Given the description of an element on the screen output the (x, y) to click on. 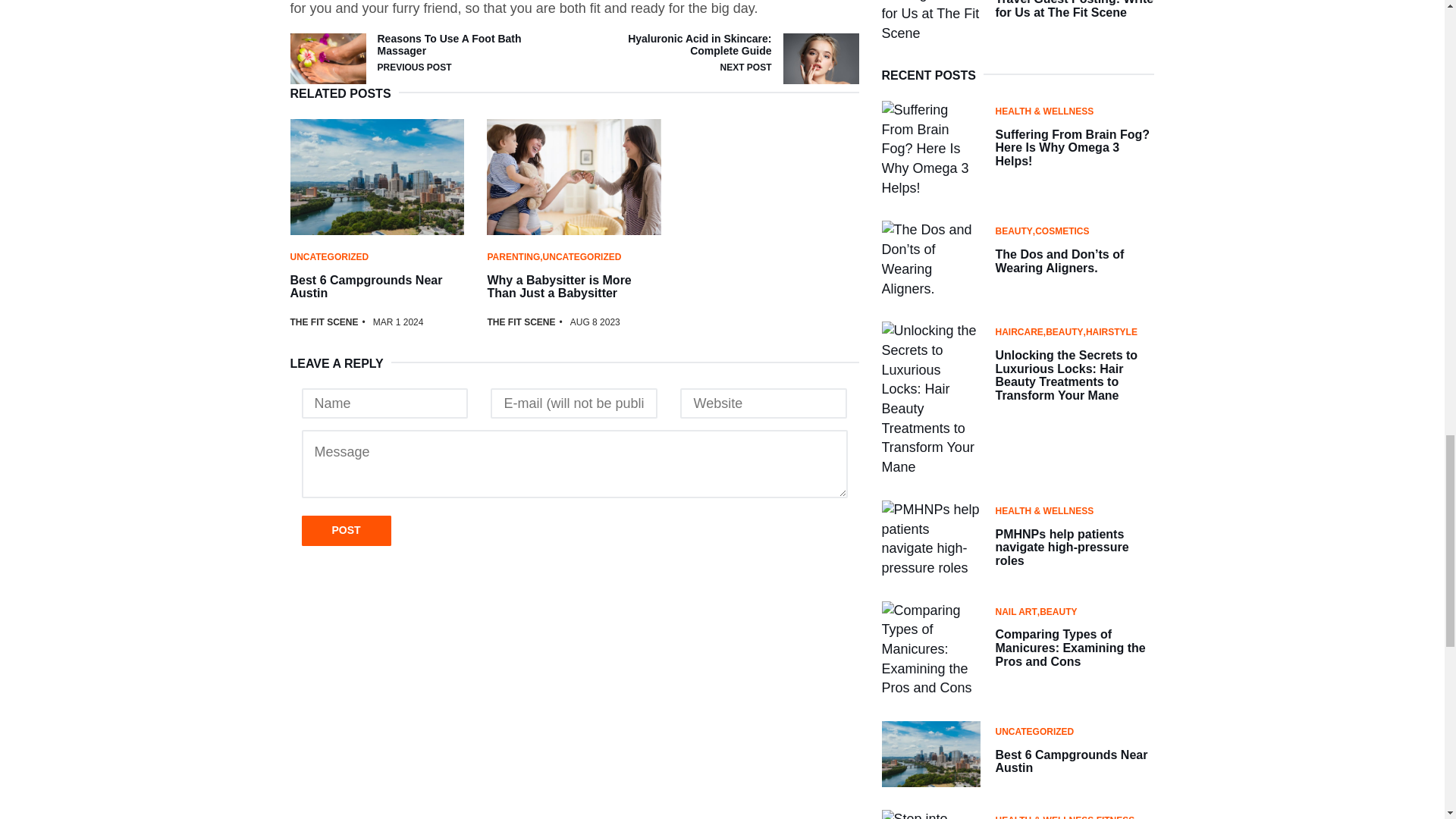
PREVIOUS POST (414, 67)
Post (346, 530)
Reasons To Use A Foot Bath Massager  (449, 44)
Hyaluronic Acid in Skincare: Complete Guide (699, 44)
